Given the description of an element on the screen output the (x, y) to click on. 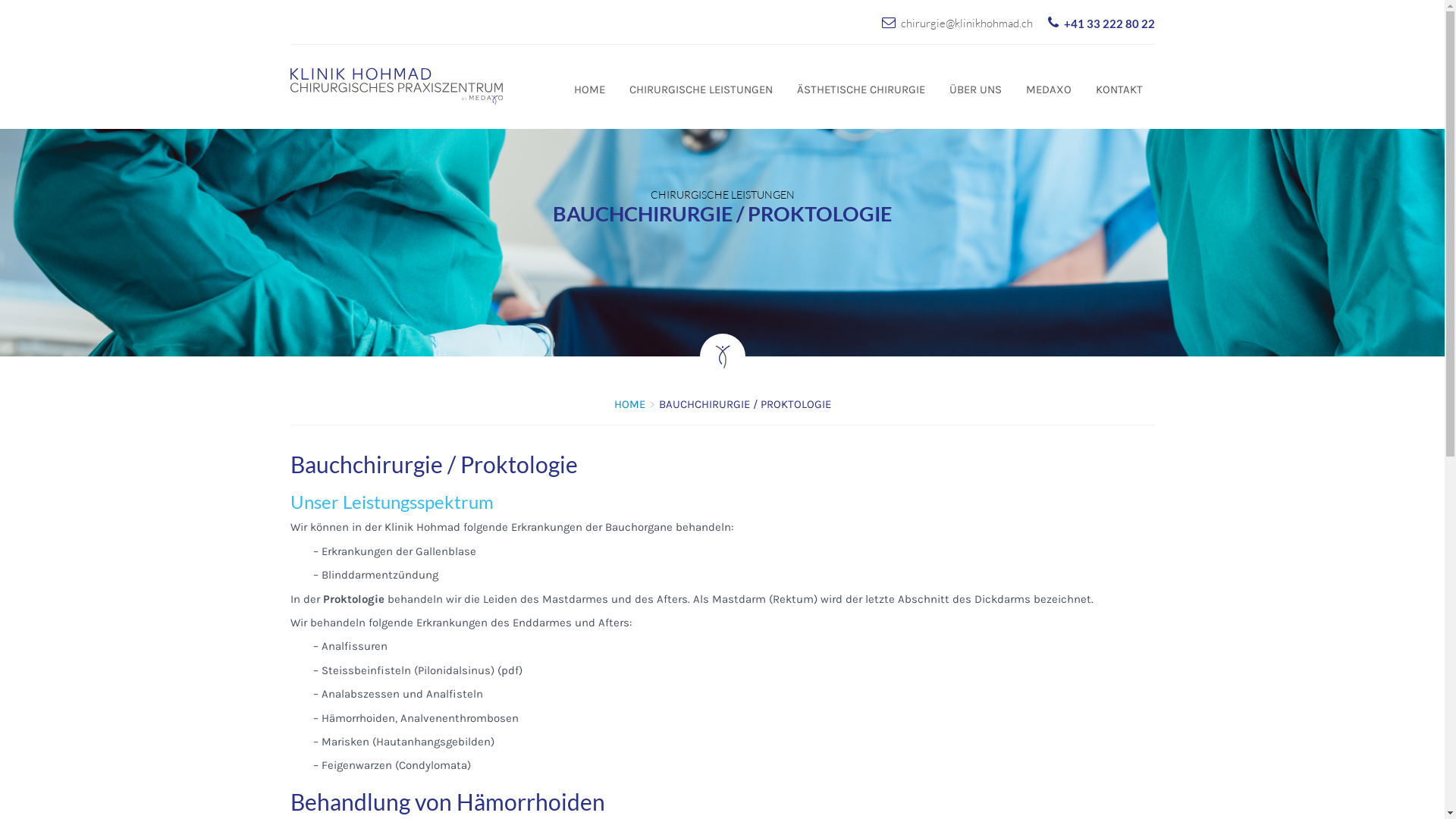
chirurgie@klinikhohmad.ch Element type: text (966, 22)
HOME Element type: text (629, 404)
CHIRURGISCHE LEISTUNGEN Element type: text (700, 89)
KONTAKT Element type: text (1118, 89)
MEDAXO Element type: text (1047, 89)
HOME Element type: text (588, 89)
BAUCHCHIRURGIE / PROKTOLOGIE Element type: text (783, 137)
